Given the description of an element on the screen output the (x, y) to click on. 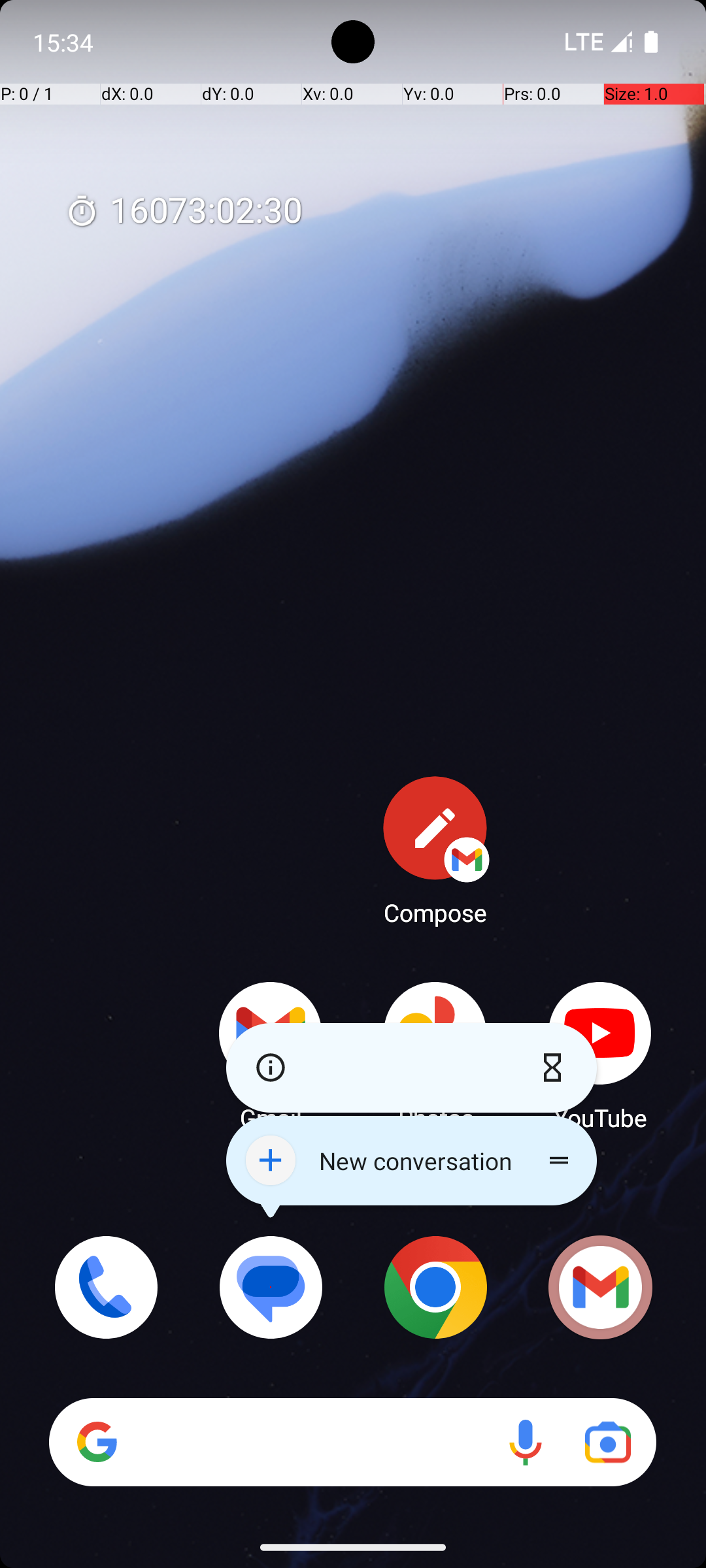
Pause app Element type: android.widget.ImageView (555, 1067)
